Given the description of an element on the screen output the (x, y) to click on. 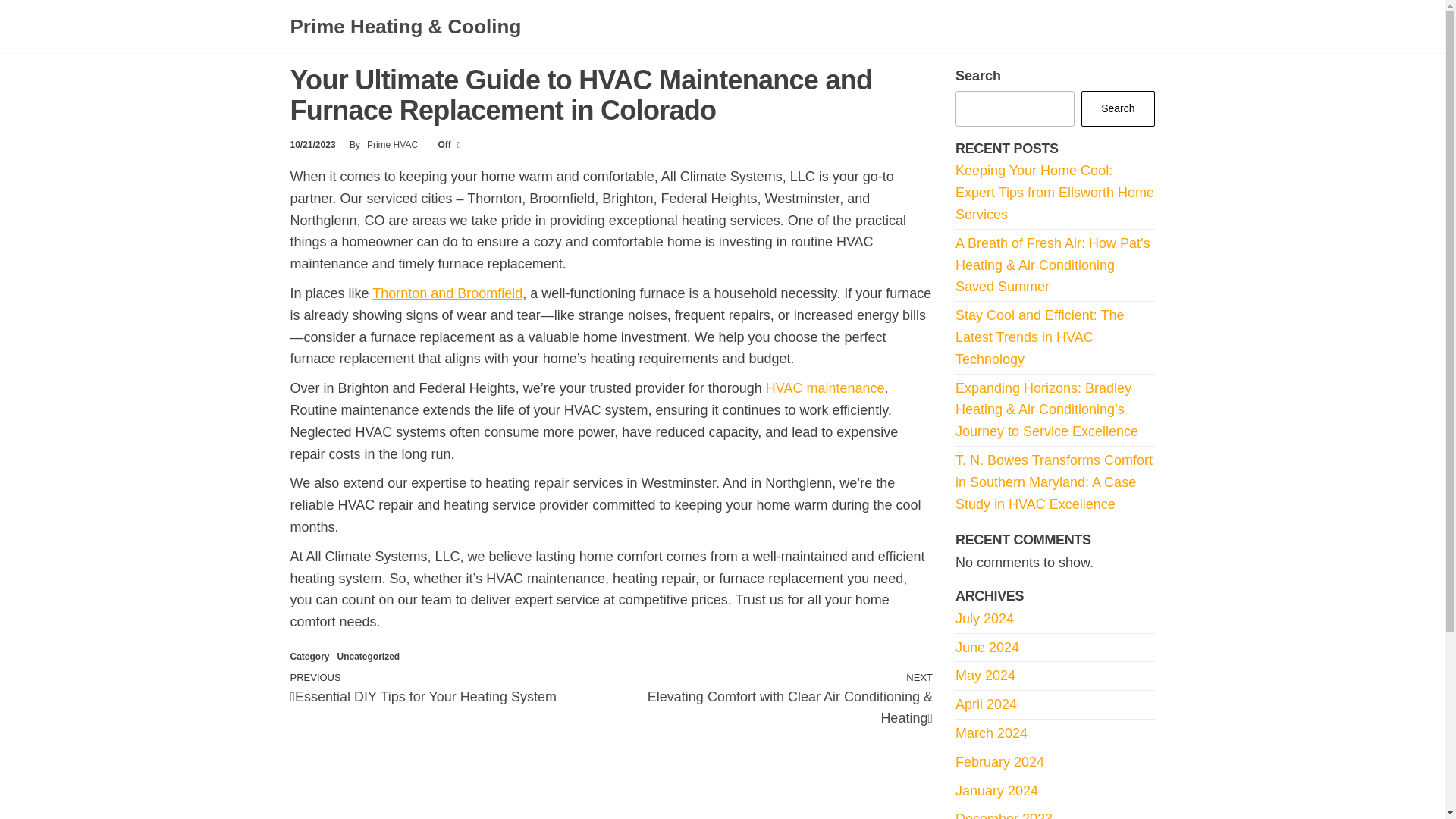
HVAC maintenance (825, 387)
January 2024 (996, 790)
March 2024 (991, 733)
Search (1117, 108)
May 2024 (984, 675)
December 2023 (1003, 815)
July 2024 (984, 618)
April 2024 (985, 703)
June 2024 (987, 647)
February 2024 (999, 761)
Uncategorized (368, 656)
Thornton and Broomfield (447, 293)
